Given the description of an element on the screen output the (x, y) to click on. 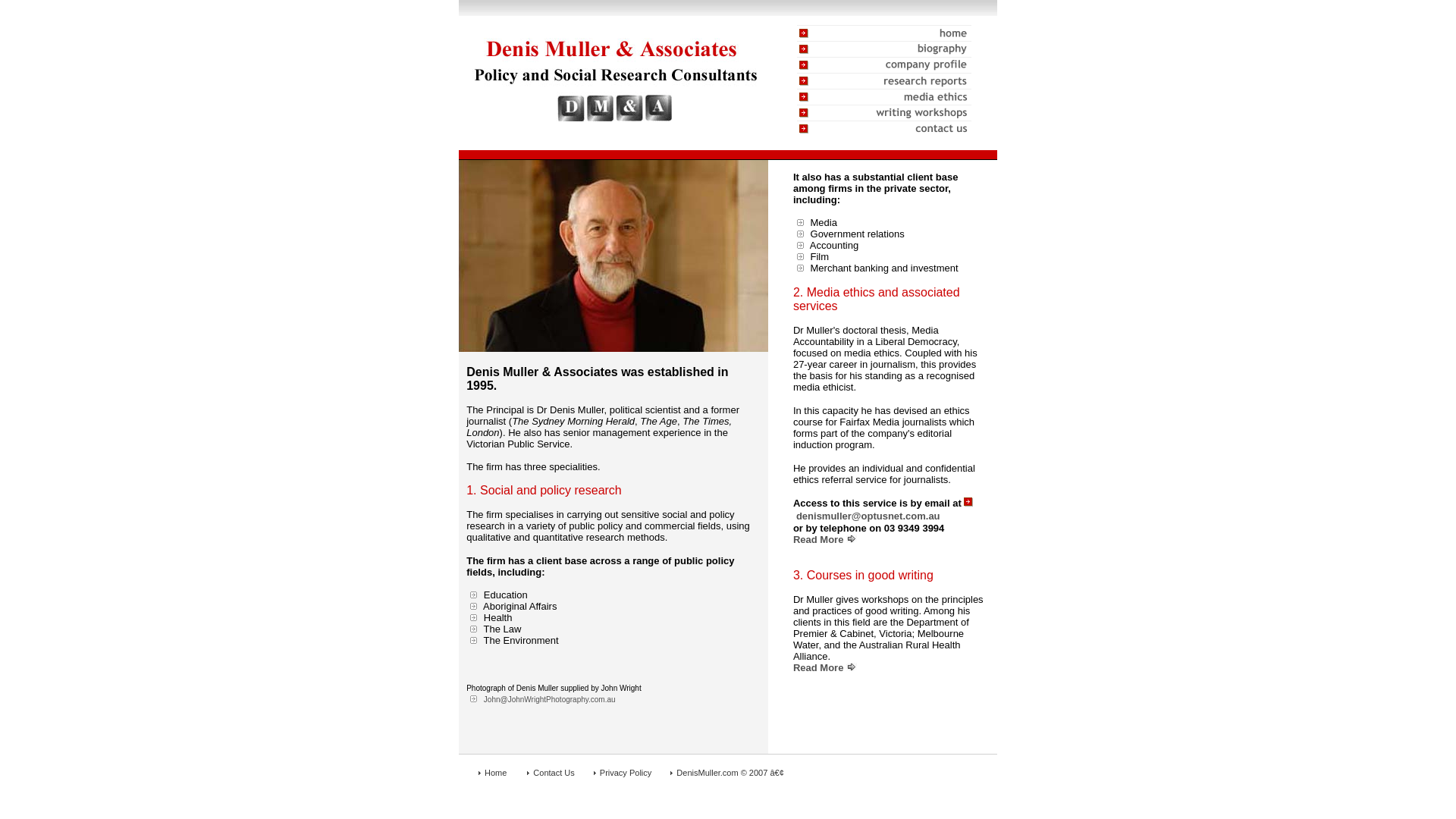
Home Element type: text (495, 772)
Read More Element type: text (818, 540)
  
Read More Element type: text (818, 662)
denismuller@optusnet.com.au Element type: text (868, 516)
John@JohnWrightPhotography.com.au Element type: text (549, 698)
Privacy Policy Element type: text (625, 772)
Contact Us Element type: text (554, 772)
